Given the description of an element on the screen output the (x, y) to click on. 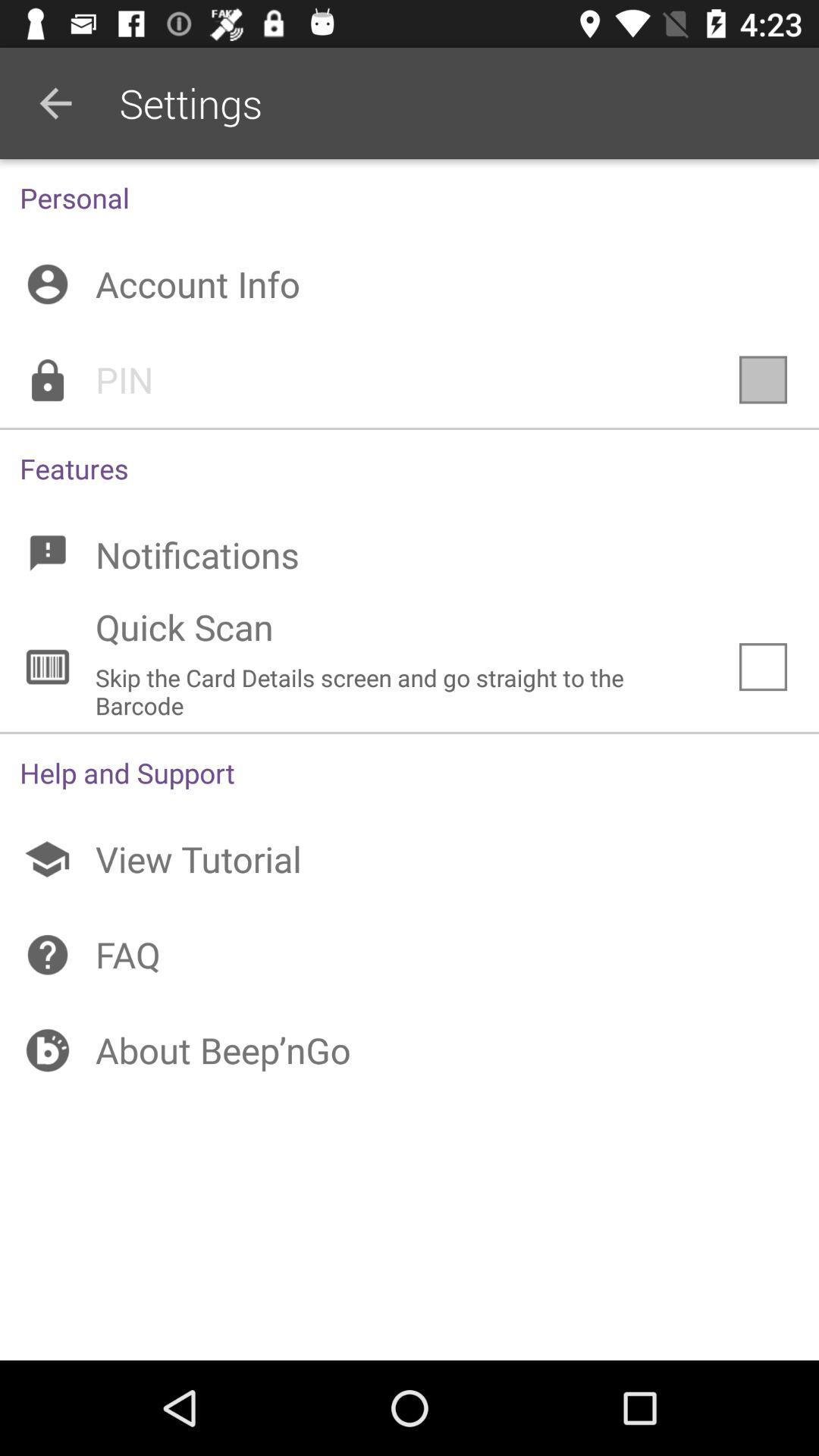
press the item below the help and support item (409, 859)
